Given the description of an element on the screen output the (x, y) to click on. 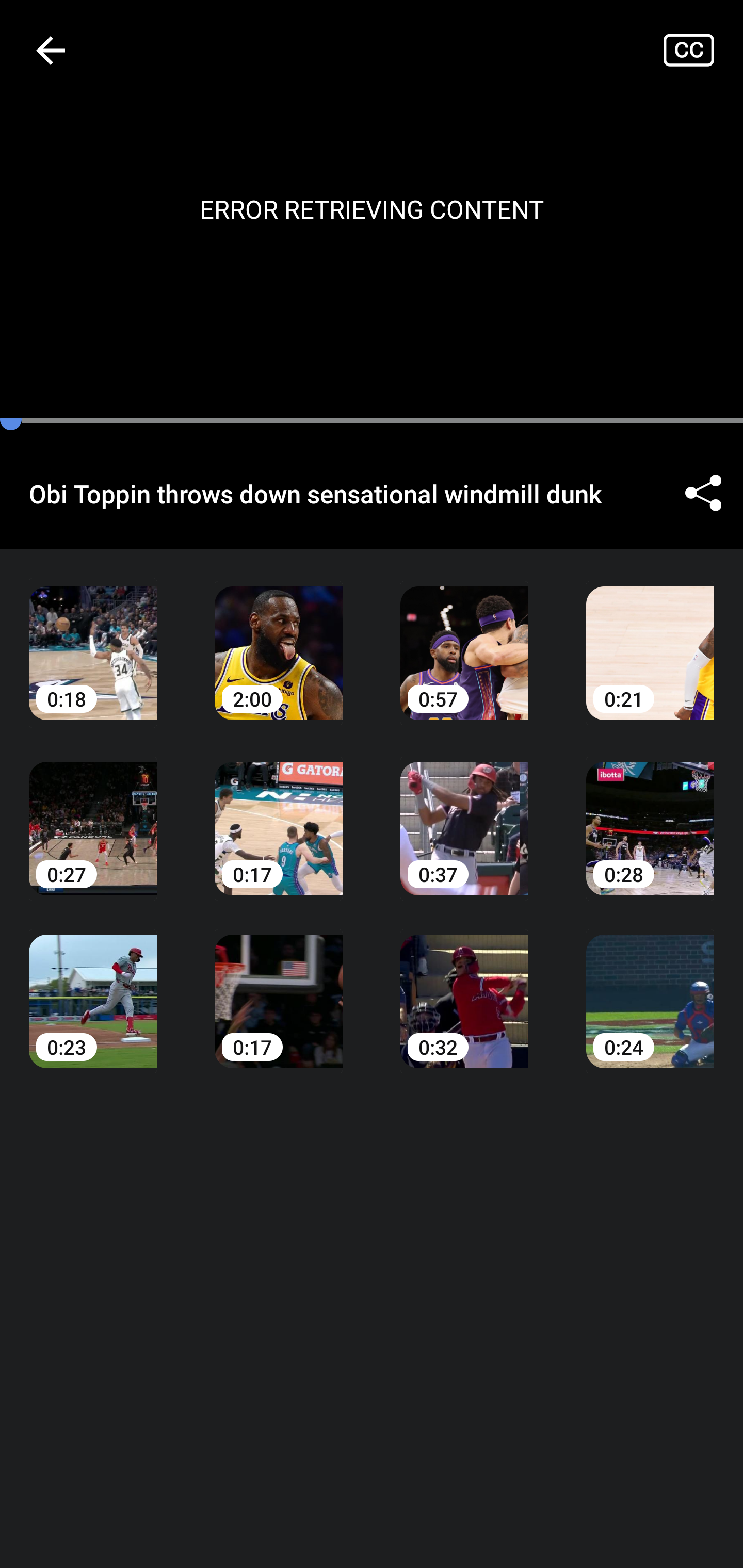
Navigate up (50, 50)
Closed captions  (703, 49)
Share © (703, 493)
0:18 (92, 637)
2:00 (278, 637)
0:57 (464, 637)
0:21 (650, 637)
0:27 (92, 813)
0:17 (278, 813)
0:37 (464, 813)
0:28 (650, 813)
0:23 (92, 987)
0:17 (278, 987)
0:32 (464, 987)
0:24 (650, 987)
